Given the description of an element on the screen output the (x, y) to click on. 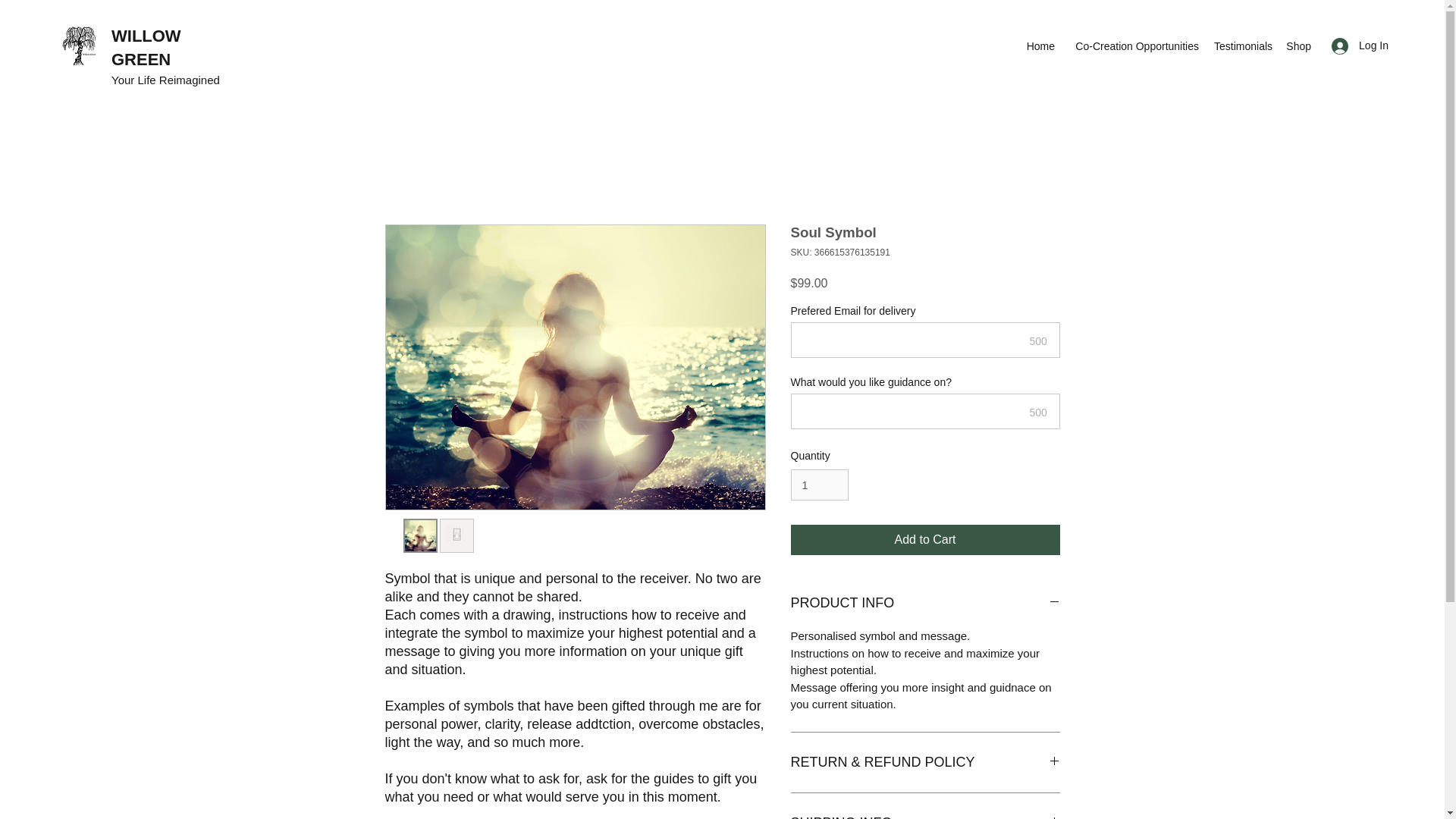
Add to Cart (924, 539)
Home (1039, 46)
Testimonials (1242, 46)
Log In (1359, 45)
Co-Creation Opportunities (1134, 46)
SHIPPING INFO (924, 815)
Shop (1298, 46)
PRODUCT INFO (924, 603)
1 (818, 484)
